Given the description of an element on the screen output the (x, y) to click on. 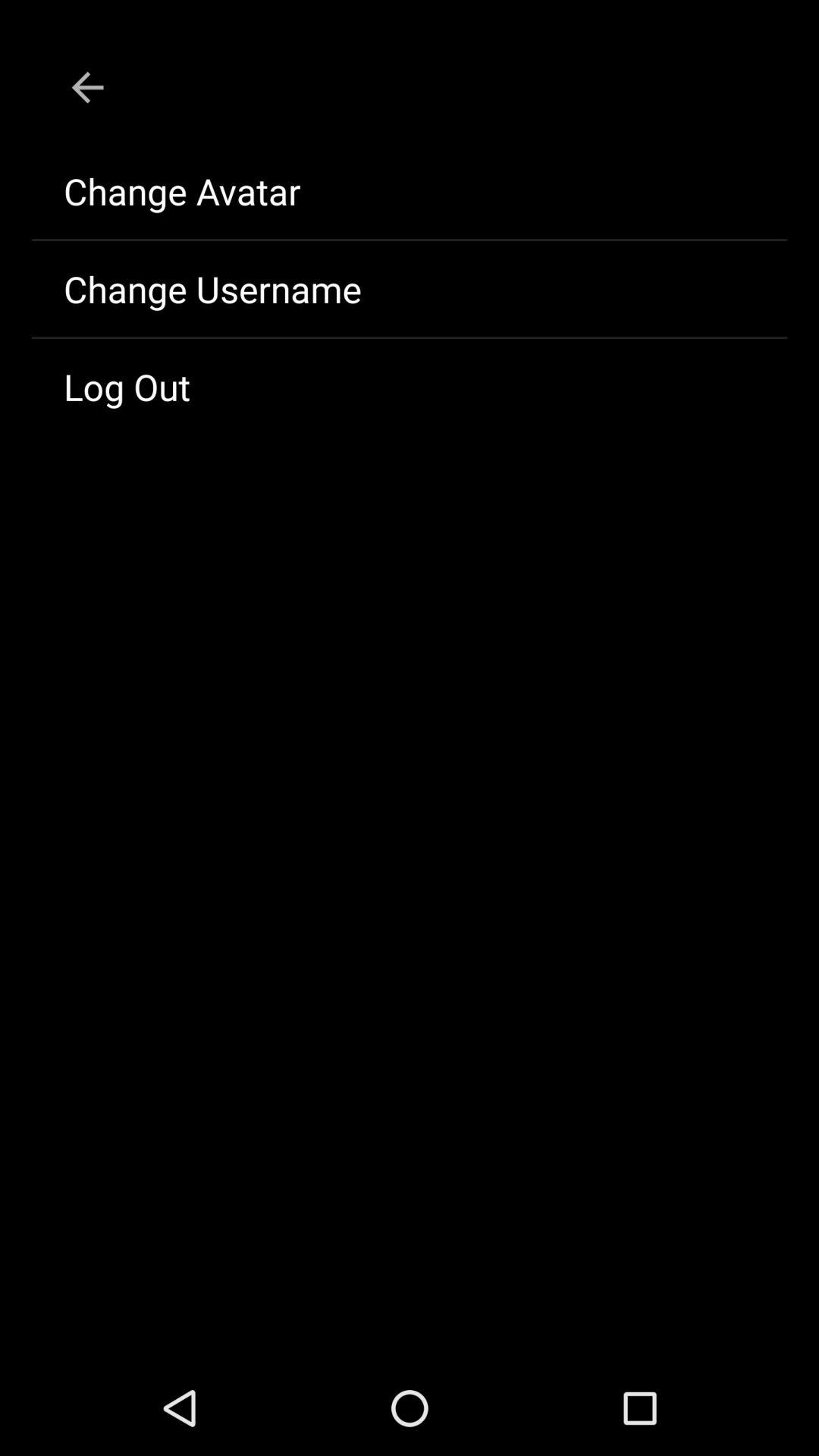
tap icon above the log out item (409, 288)
